Given the description of an element on the screen output the (x, y) to click on. 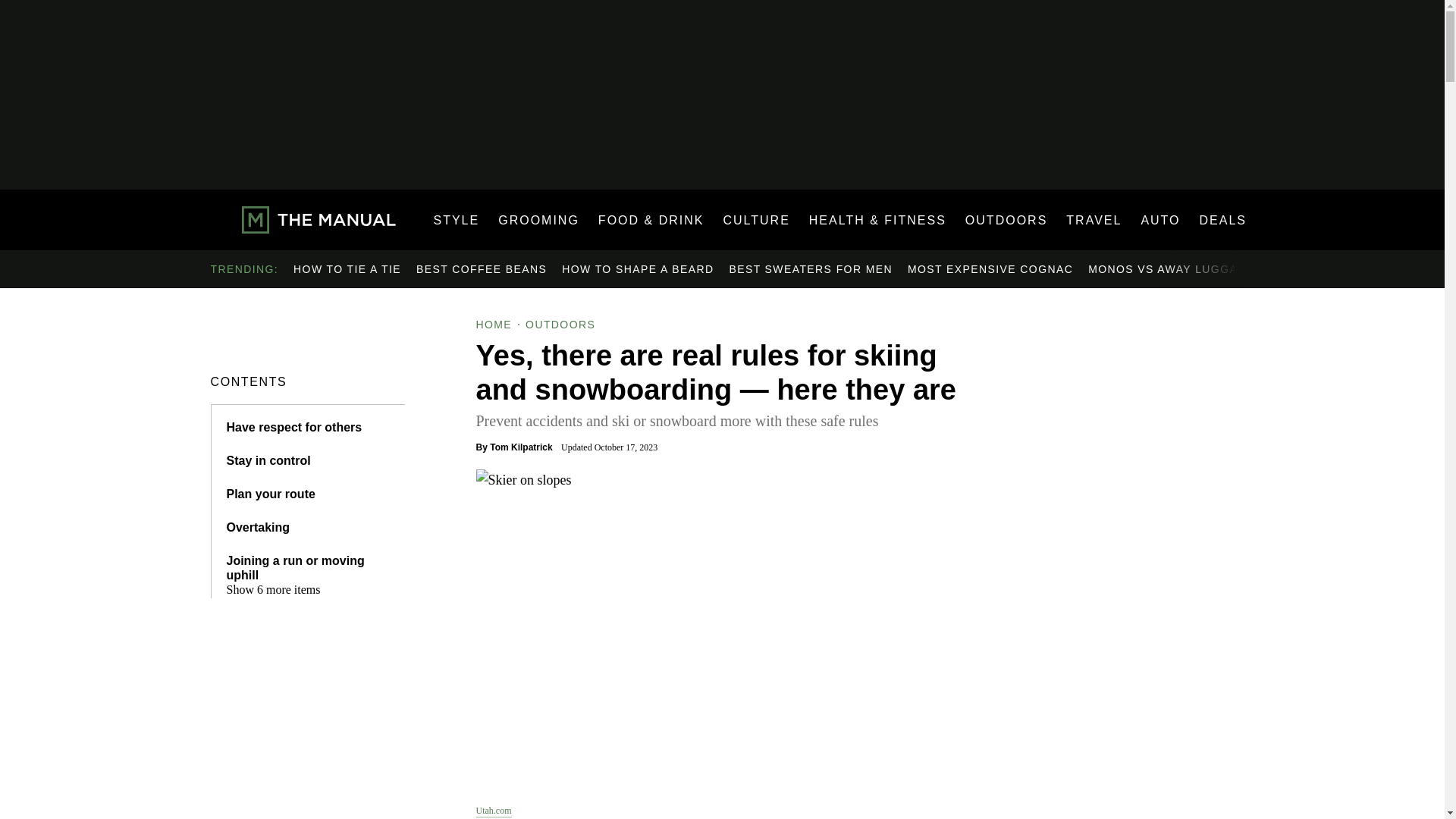
CULTURE (755, 219)
GROOMING (538, 219)
TRAVEL (1093, 219)
OUTDOORS (1005, 219)
